Given the description of an element on the screen output the (x, y) to click on. 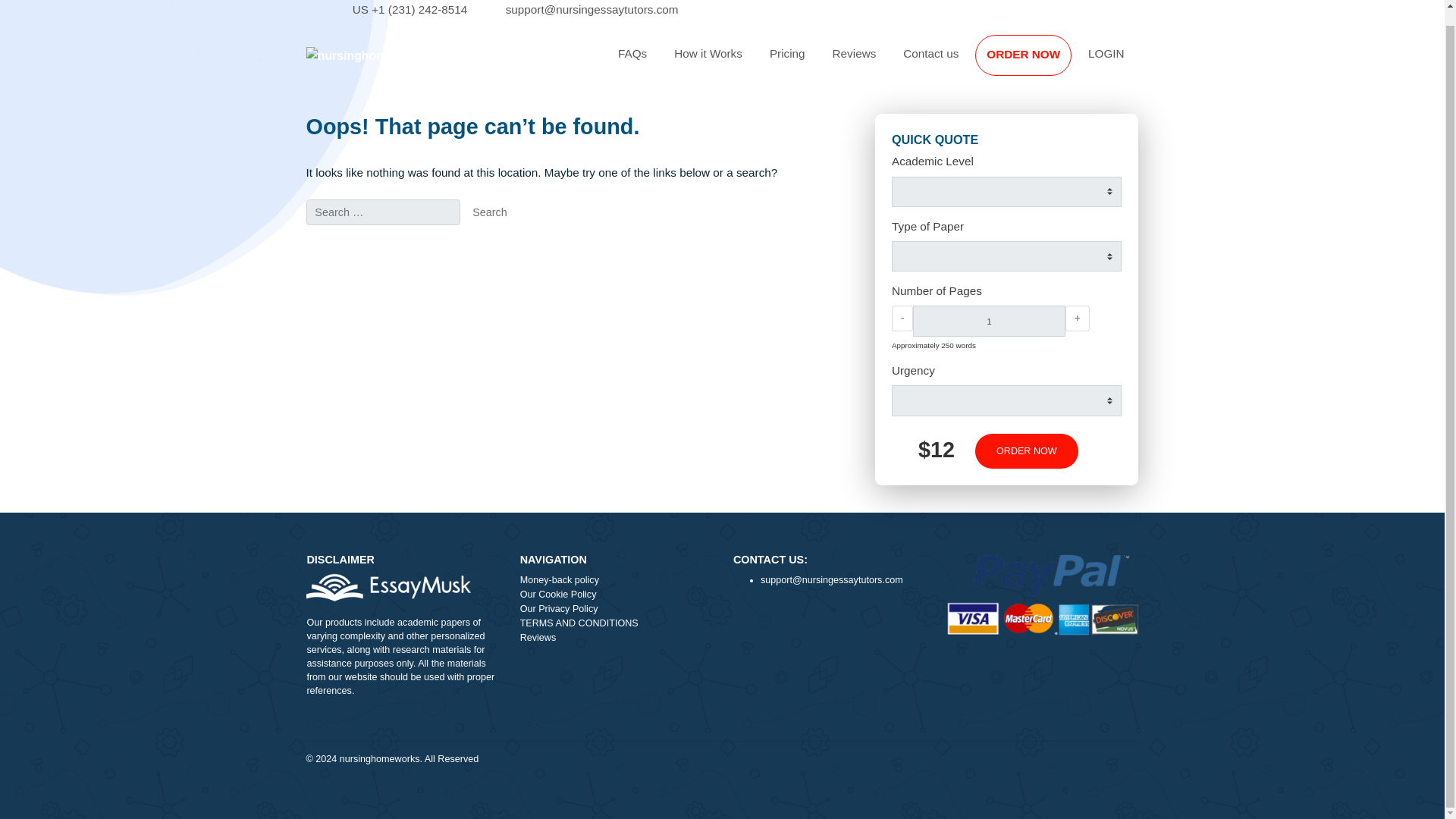
Reviews (948, 61)
LOGIN (1229, 61)
FAQs (702, 61)
Search (544, 237)
Reviews (948, 61)
Search (544, 237)
How it Works (786, 61)
Contact us (1034, 61)
Reviews (685, 710)
1 (1098, 358)
